Given the description of an element on the screen output the (x, y) to click on. 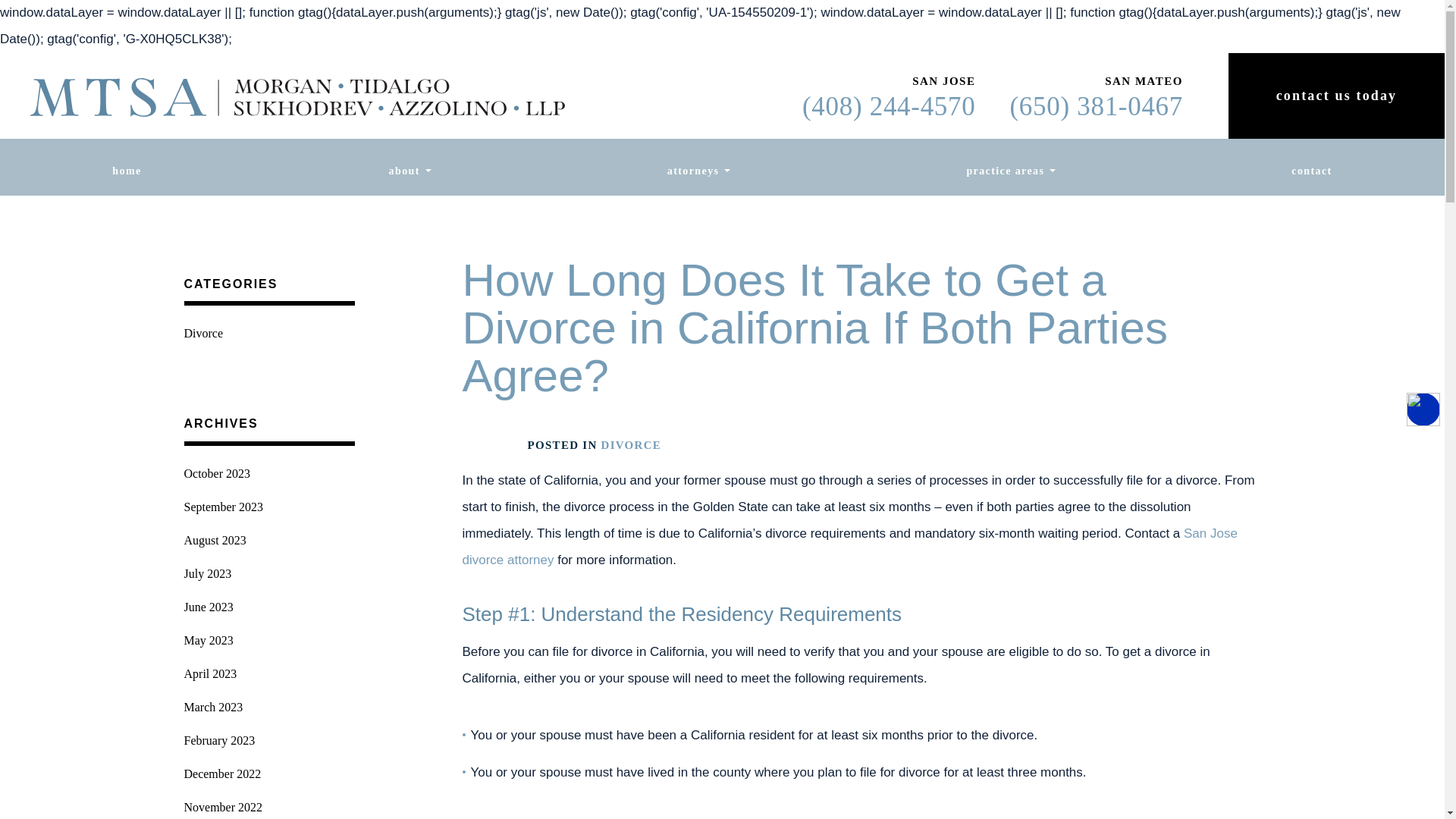
practice areas (1005, 166)
September 2023 (268, 507)
July 2023 (268, 573)
October 2023 (268, 473)
November 2022 (268, 805)
June 2023 (268, 607)
Divorce (268, 333)
April 2023 (268, 674)
home (126, 166)
about (403, 166)
contact (1310, 166)
attorneys (693, 166)
May 2023 (268, 640)
March 2023 (268, 707)
Accessibility Menu (1422, 409)
